Given the description of an element on the screen output the (x, y) to click on. 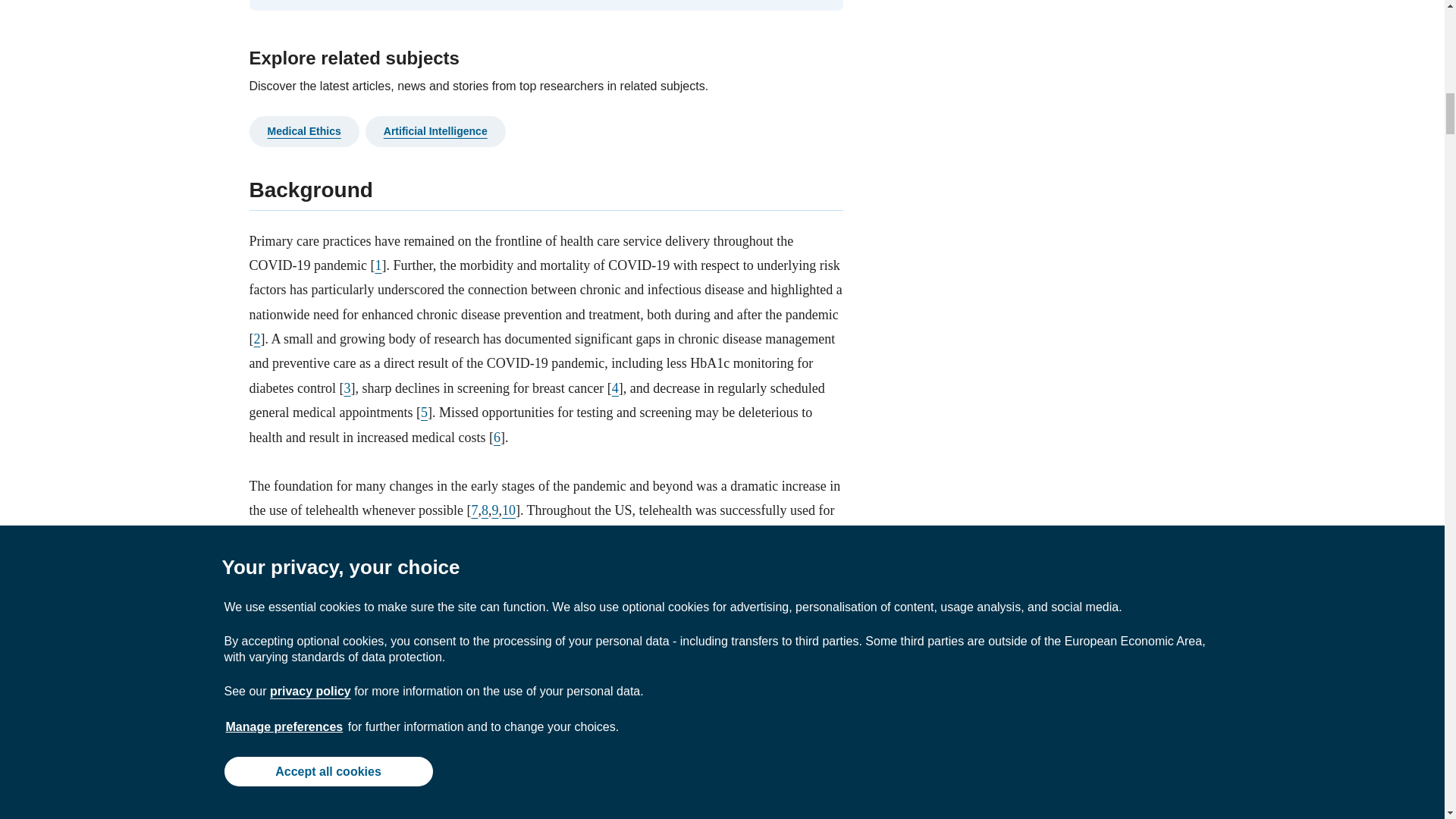
Artificial Intelligence (435, 131)
Medical Ethics (303, 131)
